Given the description of an element on the screen output the (x, y) to click on. 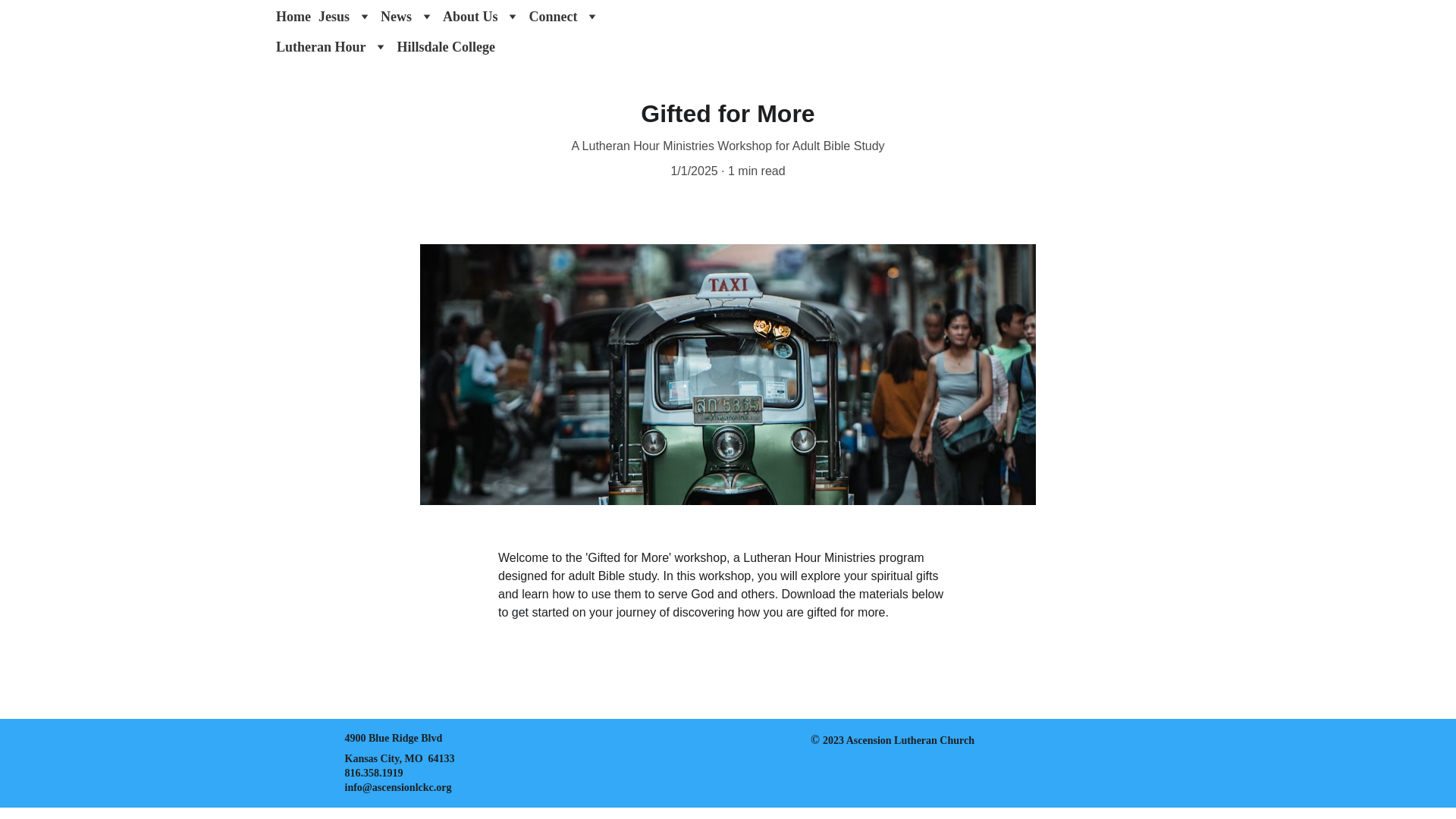
Lutheran Hour (321, 46)
News (396, 16)
Hillsdale College (446, 46)
Home (293, 16)
About Us (469, 16)
Connect (553, 16)
